Given the description of an element on the screen output the (x, y) to click on. 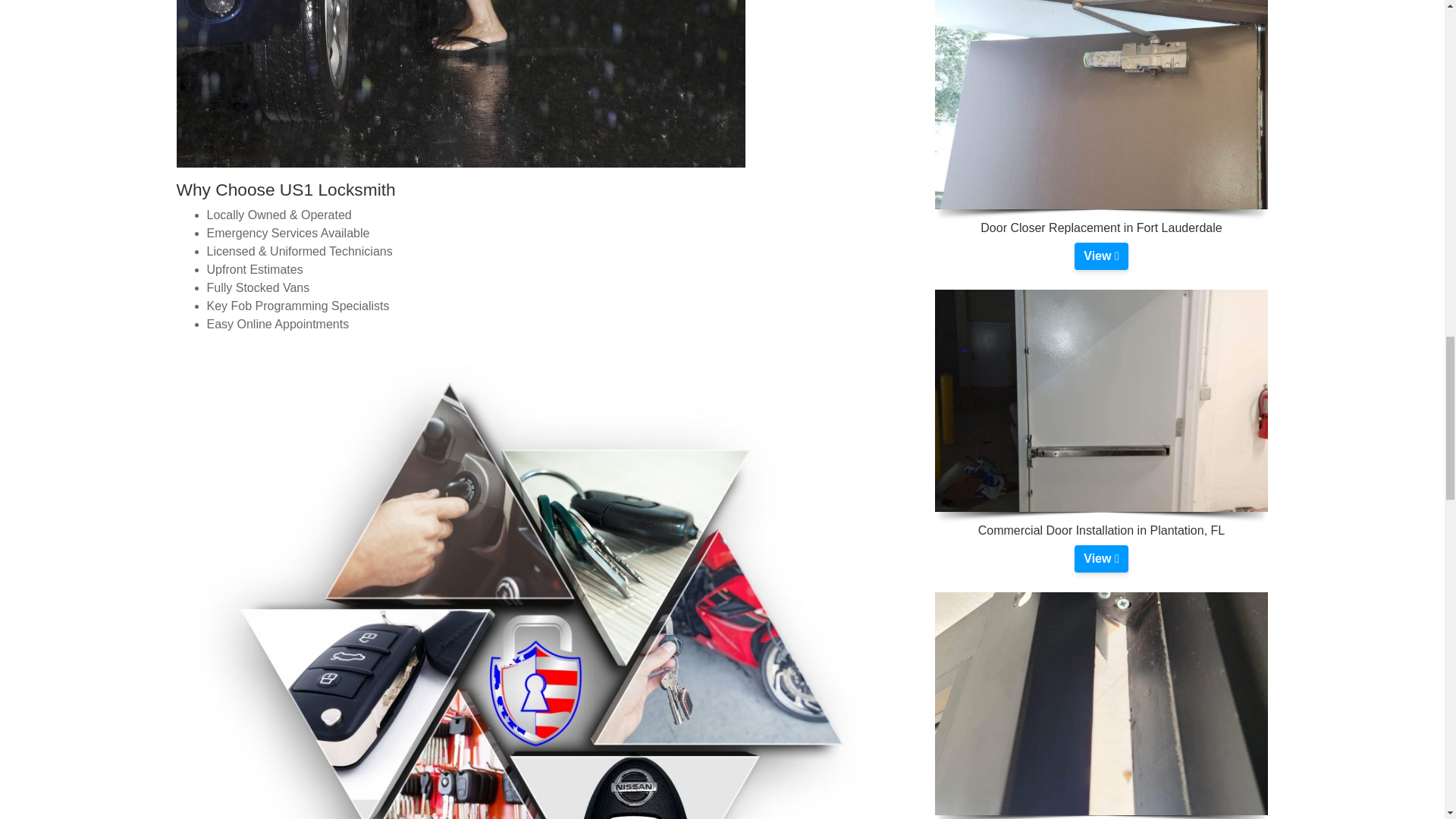
Commercial Door Installation in Plantation, FL (1100, 558)
View (1100, 558)
View (1100, 256)
Door Closer Replacement in Fort Lauderdale (1100, 256)
